Given the description of an element on the screen output the (x, y) to click on. 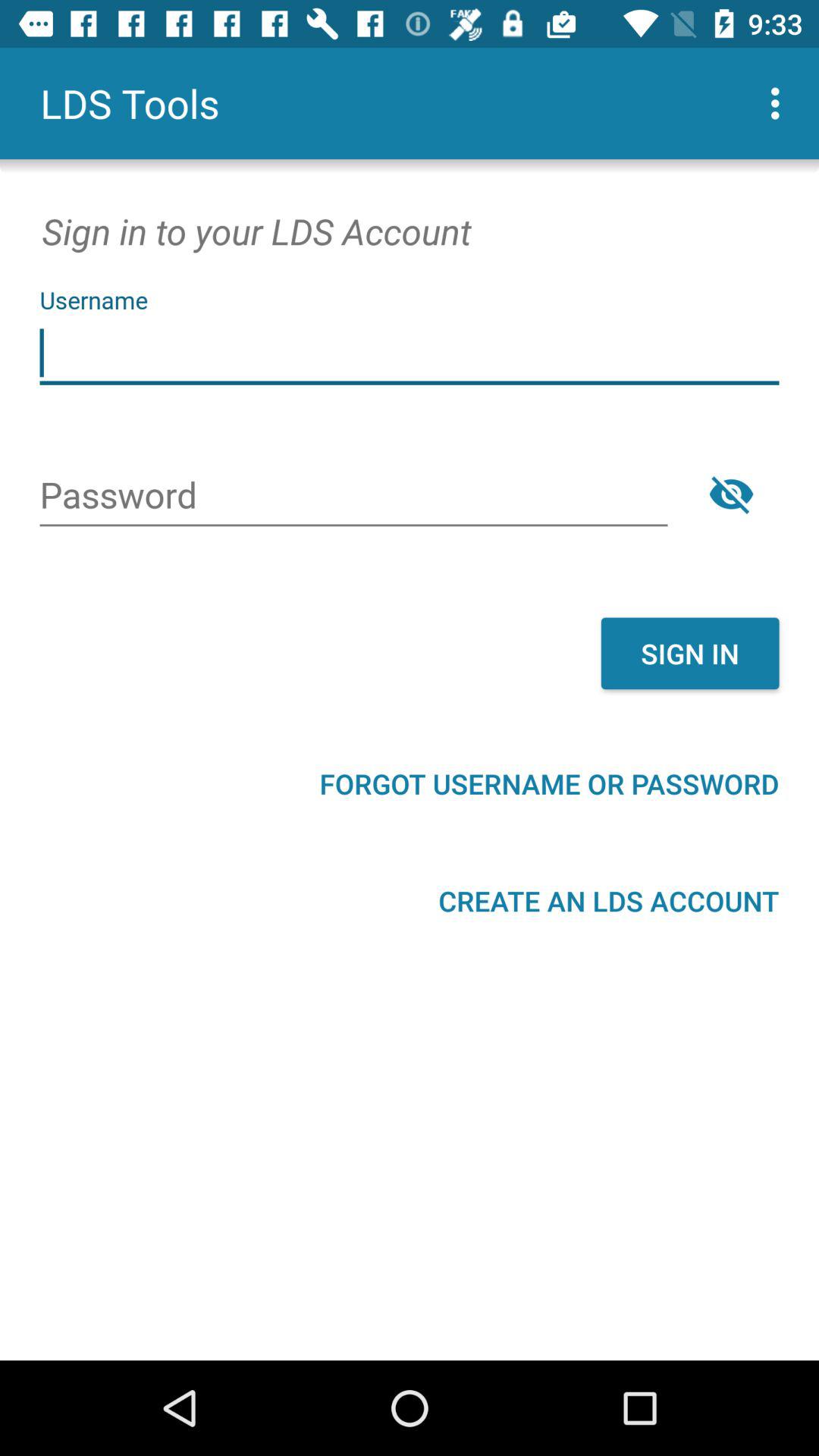
enter your password (353, 497)
